Given the description of an element on the screen output the (x, y) to click on. 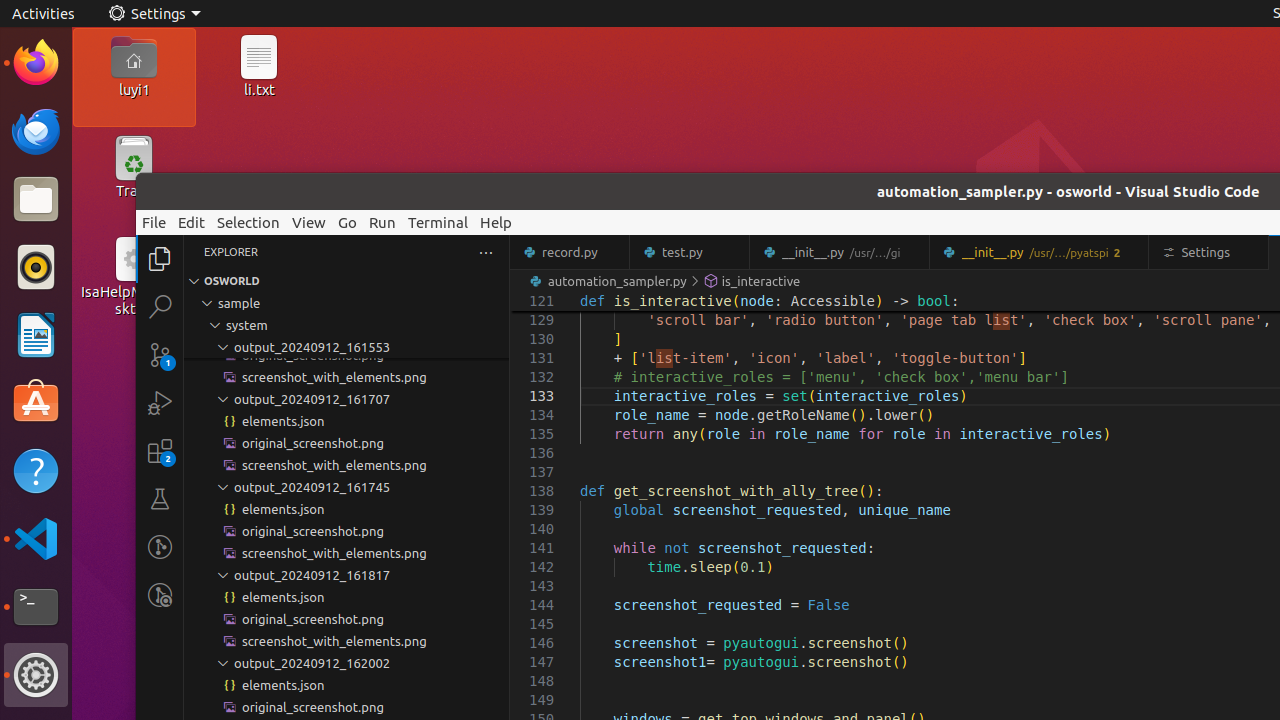
li.txt Element type: label (259, 89)
luyi1 Element type: label (133, 89)
Trash Element type: label (133, 191)
